Given the description of an element on the screen output the (x, y) to click on. 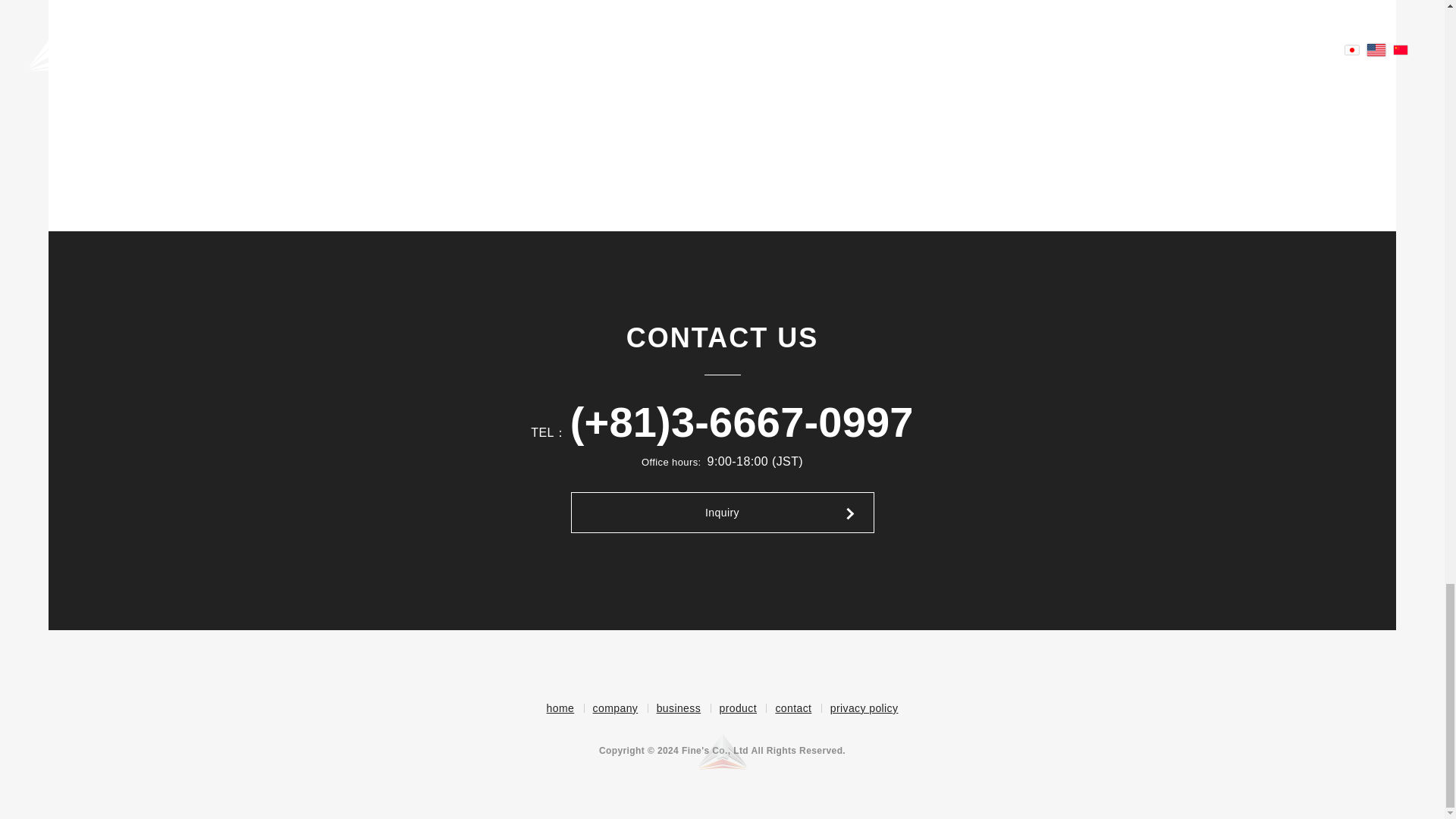
contact (787, 707)
home (561, 707)
business (673, 707)
privacy policy (859, 707)
company (611, 707)
product (733, 707)
Inquiry (721, 512)
